Given the description of an element on the screen output the (x, y) to click on. 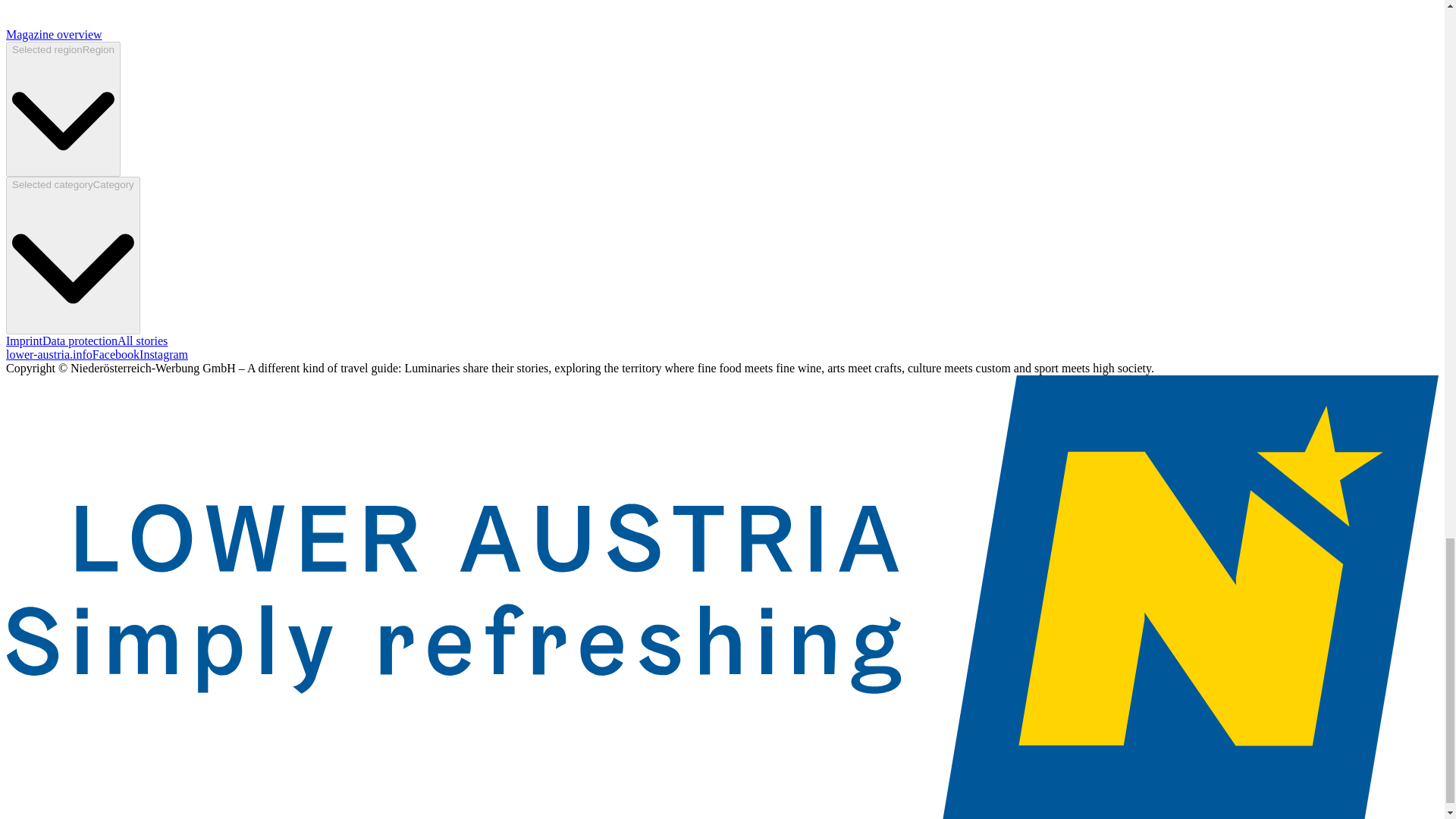
Facebook (116, 354)
Selected categoryCategory (72, 255)
lower-austria.info (49, 354)
All stories (142, 340)
Data protection (79, 340)
Imprint (23, 340)
Selected regionRegion (62, 108)
Instagram (163, 354)
